Given the description of an element on the screen output the (x, y) to click on. 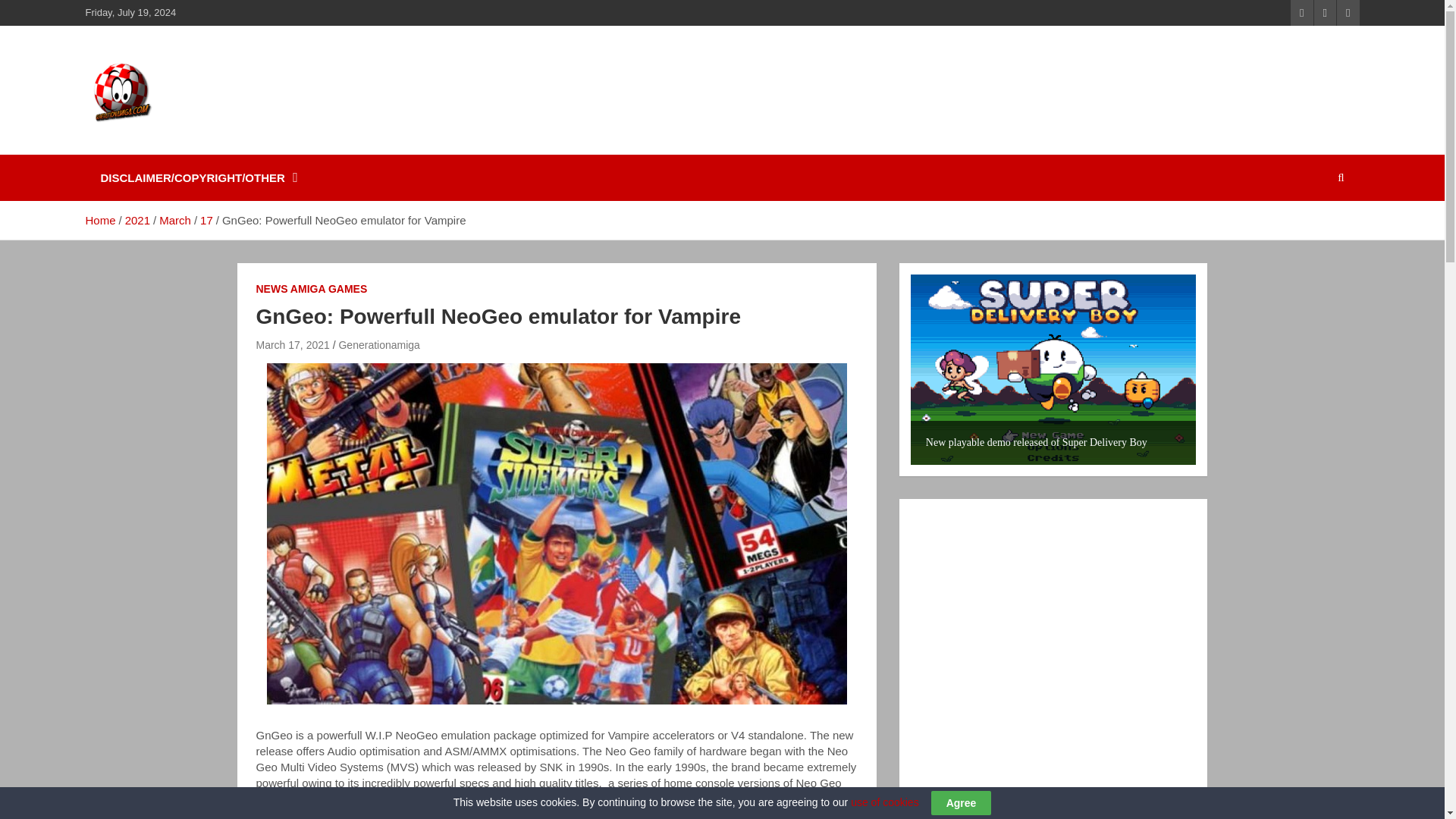
Home (99, 219)
GenerationAmiga.com (246, 143)
Generationamiga (378, 345)
17 (206, 219)
GnGeo: Powerfull NeoGeo emulator for Vampire (293, 345)
March 17, 2021 (293, 345)
NEWS AMIGA GAMES (312, 289)
March (174, 219)
Advertisement (1094, 90)
2021 (137, 219)
